Given the description of an element on the screen output the (x, y) to click on. 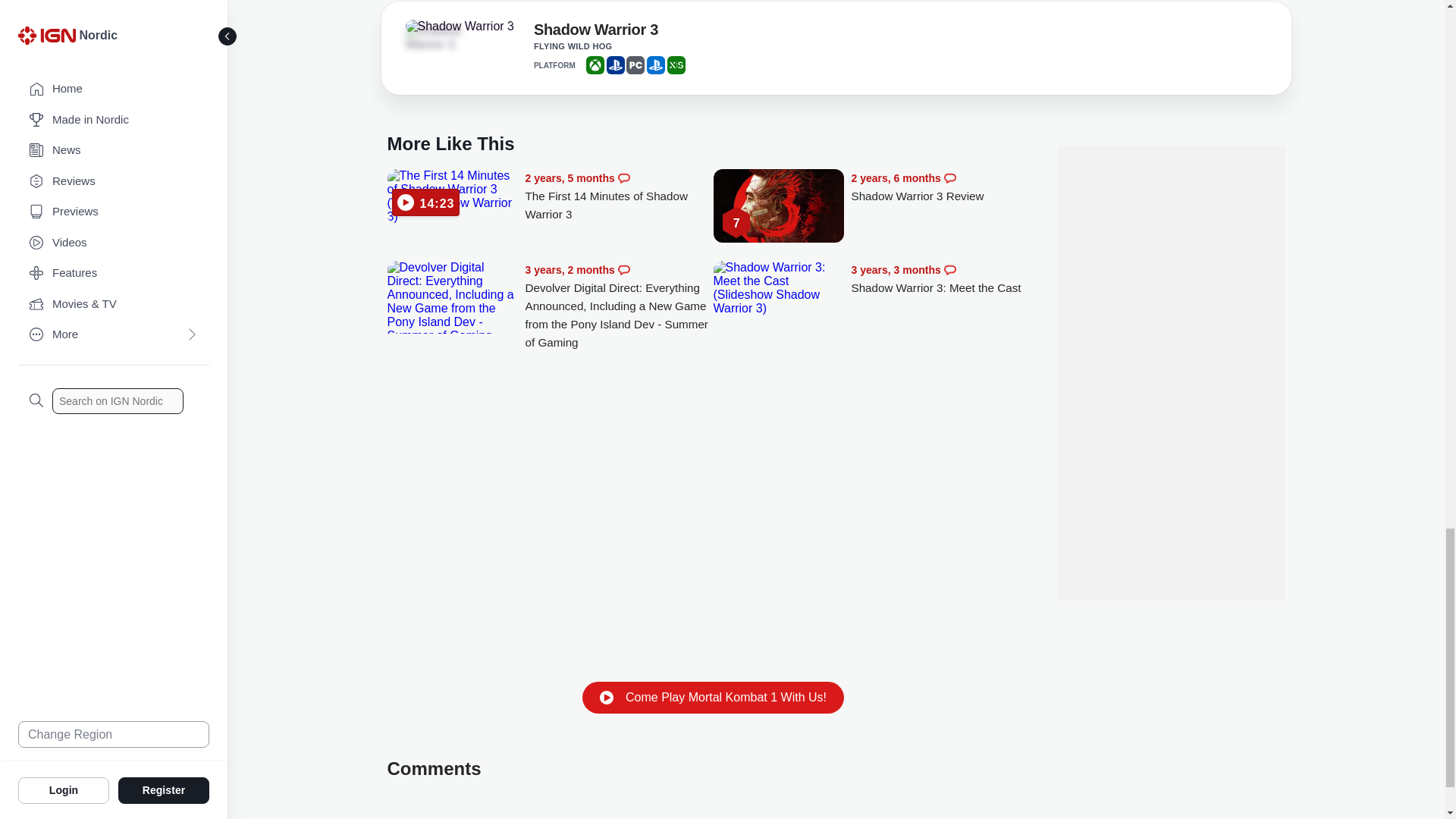
XBOXSERIES (675, 65)
Shadow Warrior 3: Meet the Cast (944, 279)
Shadow Warrior 3: Meet the Cast (778, 288)
PS5 (655, 65)
PC (635, 65)
Shadow Warrior 3 (448, 37)
PS4 (615, 65)
The First 14 Minutes of Shadow Warrior 3 (451, 195)
